Given the description of an element on the screen output the (x, y) to click on. 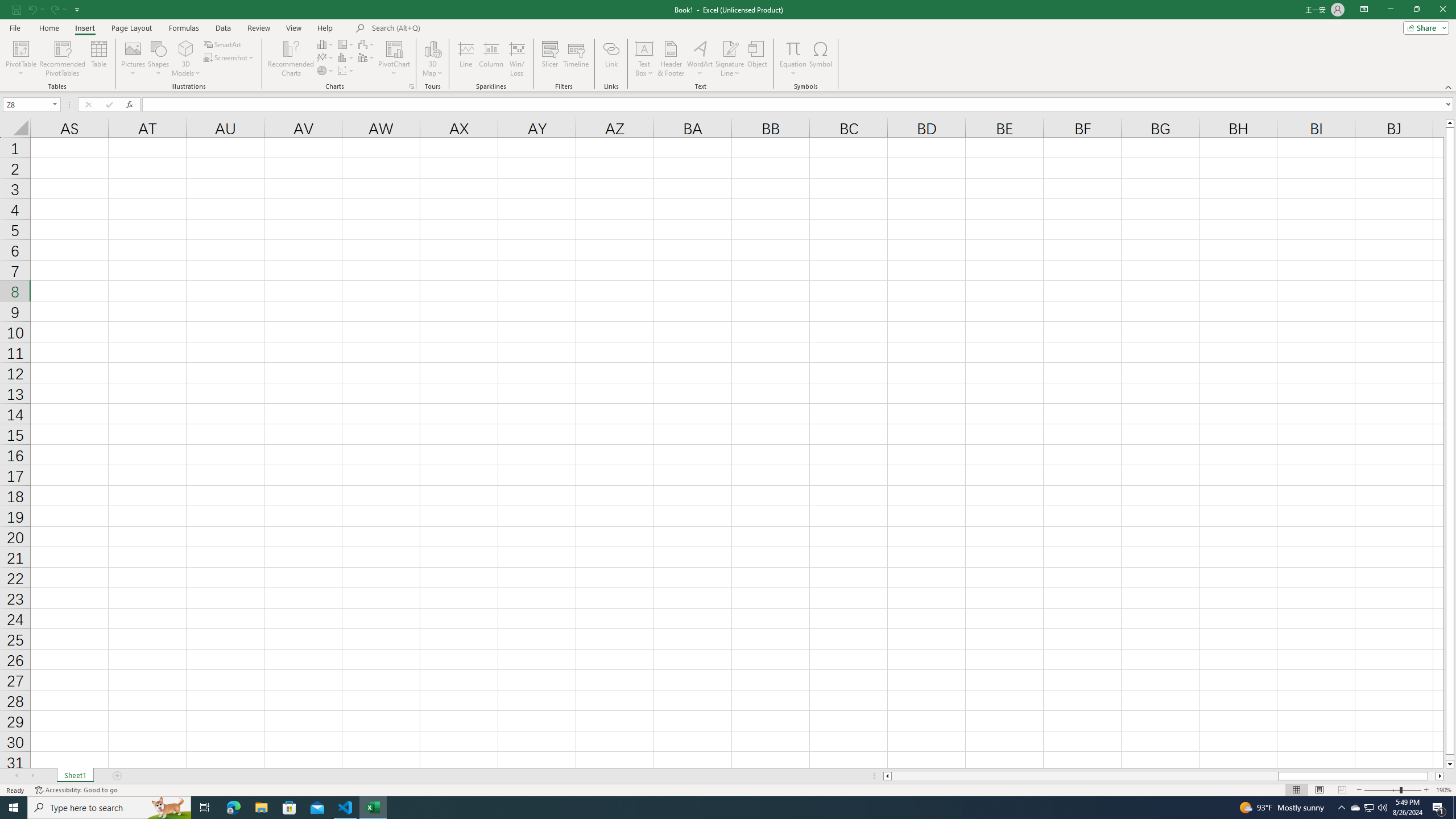
Column (491, 58)
